Given the description of an element on the screen output the (x, y) to click on. 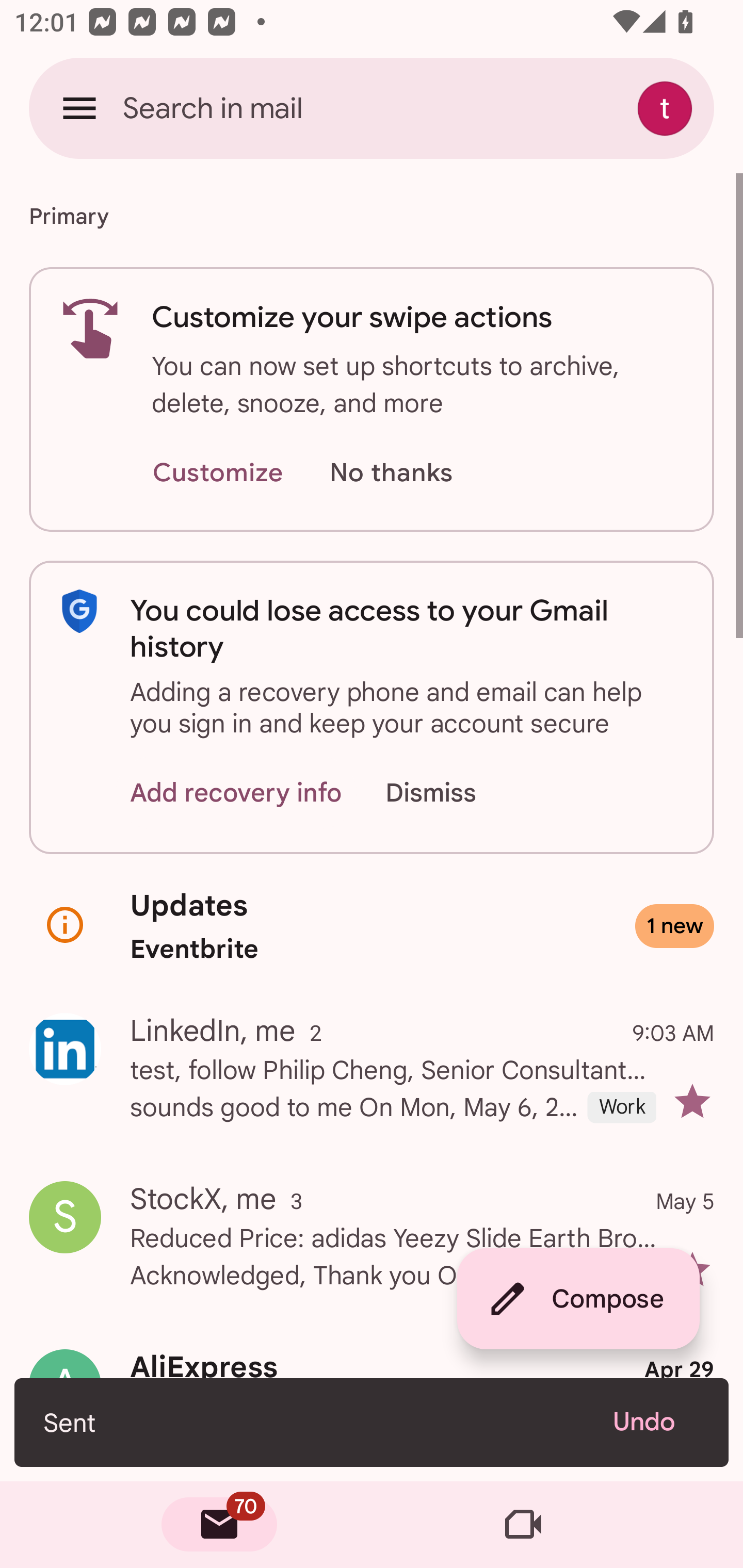
Open navigation drawer (79, 108)
Customize (217, 473)
No thanks (390, 473)
Add recovery info (235, 792)
Dismiss (449, 792)
Updates Eventbrite 1 new (371, 926)
Compose (577, 1299)
Undo (655, 1422)
Meet (523, 1524)
